Given the description of an element on the screen output the (x, y) to click on. 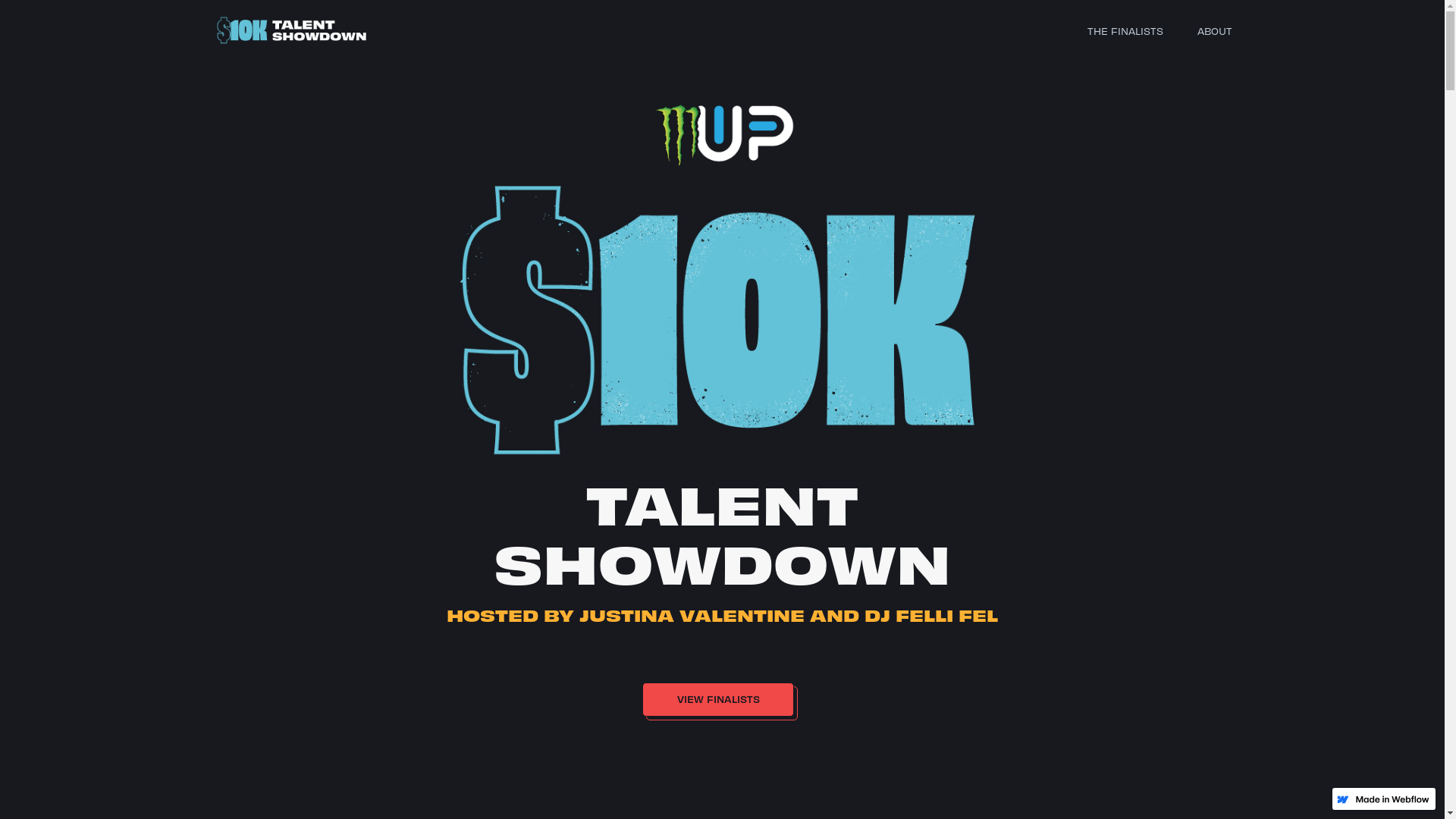
ABOUT Element type: text (1213, 29)
THE FINALISTS Element type: text (1125, 29)
VIEW FINALISTS Element type: text (721, 704)
